Given the description of an element on the screen output the (x, y) to click on. 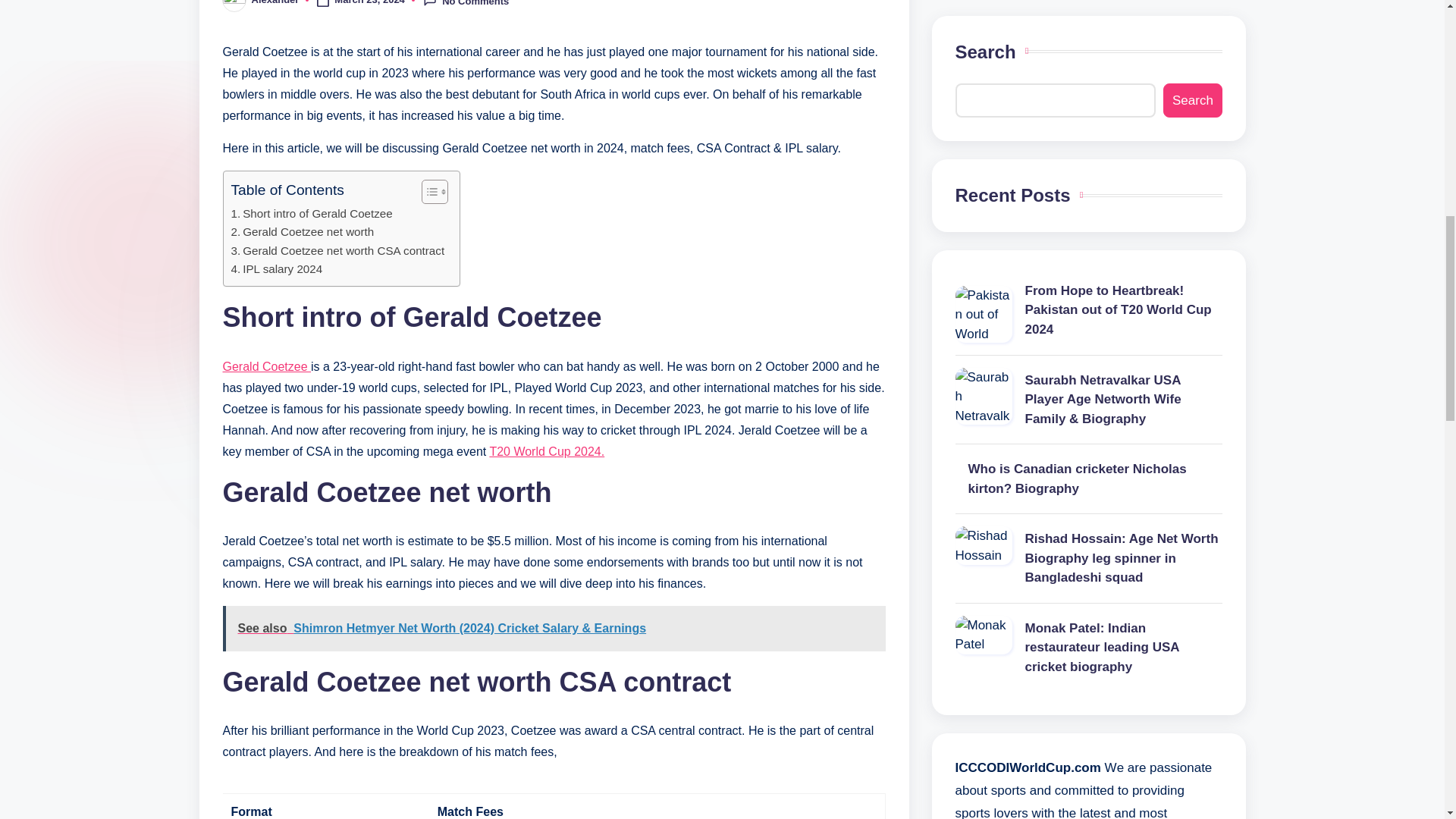
Gerald Coetzee net worth CSA contract (337, 250)
View all posts by Alexander (275, 2)
Short intro of Gerald Coetzee (310, 213)
Gerald Coetzee net worth (302, 231)
IPL salary 2024 (275, 269)
